Given the description of an element on the screen output the (x, y) to click on. 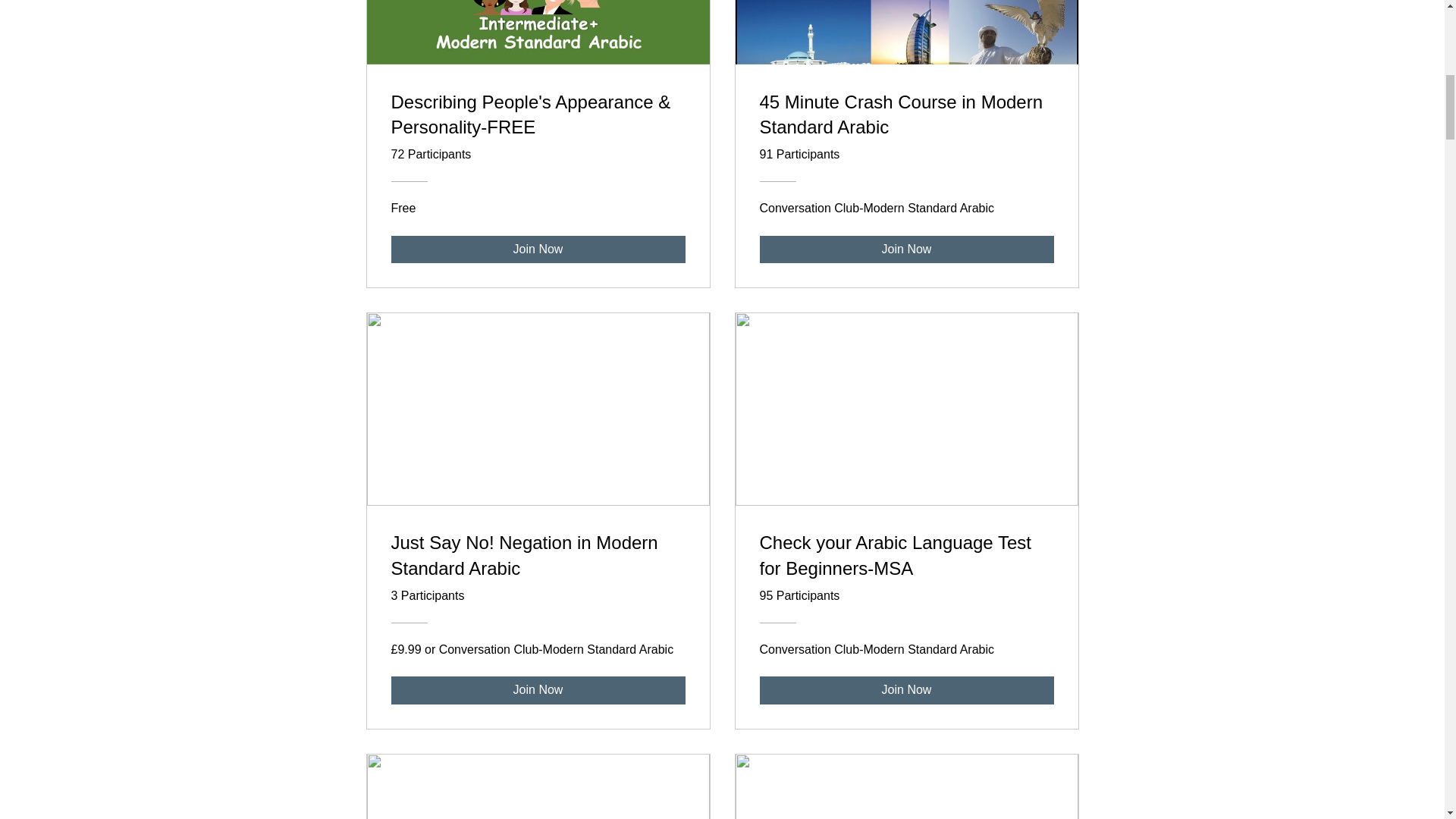
Just Say No! Negation in Modern Standard Arabic (538, 558)
Join Now (538, 689)
Join Now (538, 248)
Join Now (907, 248)
Check your Arabic Language Test for Beginners-MSA (907, 558)
45 Minute Crash Course in Modern Standard Arabic (907, 117)
Join Now (907, 689)
